Given the description of an element on the screen output the (x, y) to click on. 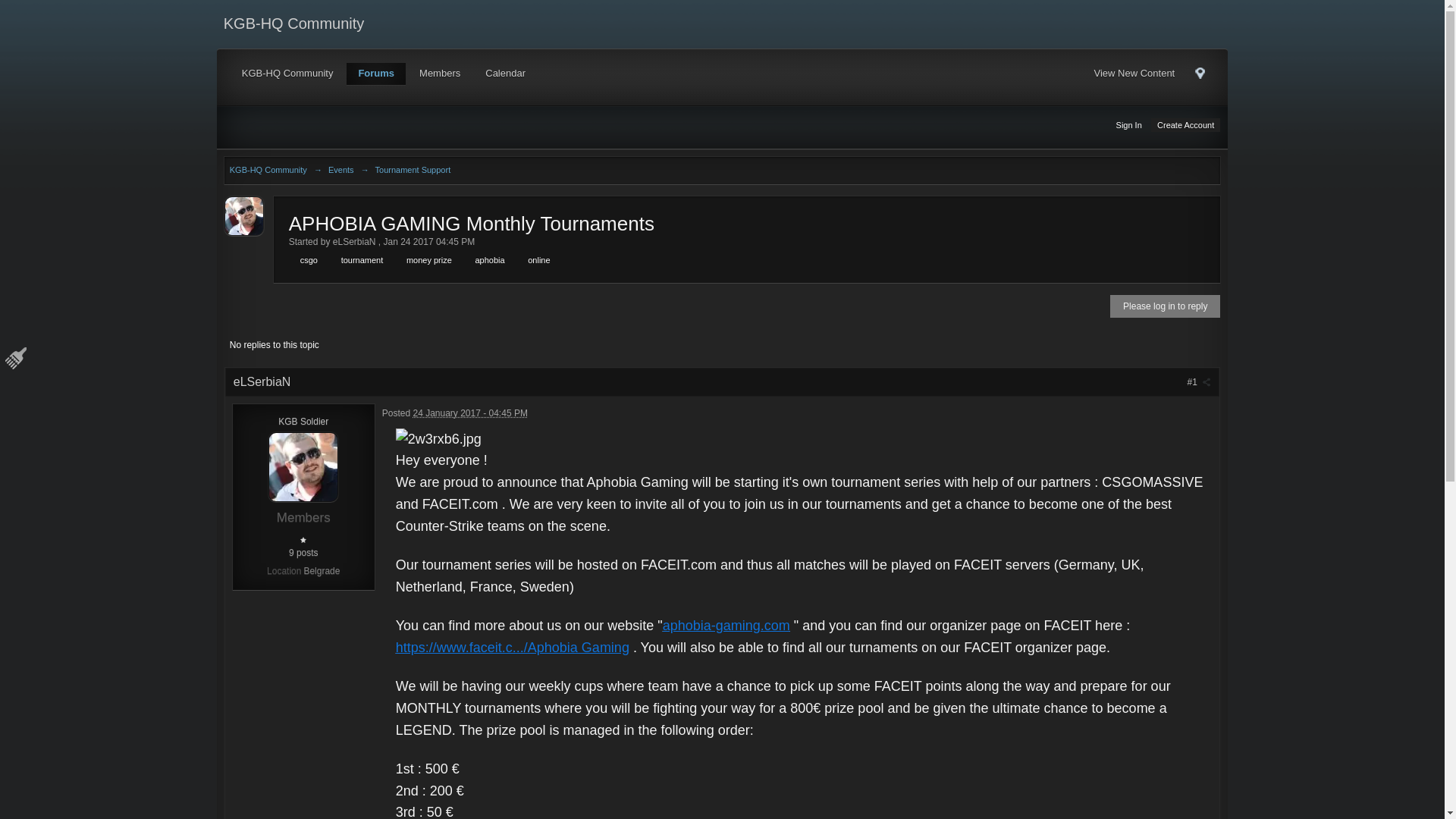
KGB-HQ Community (287, 74)
Return to Events (341, 169)
Sign In (1128, 124)
Members (439, 74)
External link (726, 625)
Create Account (1185, 124)
Create Account (1185, 124)
csgo (305, 259)
KGB-HQ Community (268, 169)
money prize (425, 259)
Go to Calendar (505, 74)
Events (341, 169)
Homepage (287, 74)
Forums (376, 74)
Sign In (1128, 124)
